Given the description of an element on the screen output the (x, y) to click on. 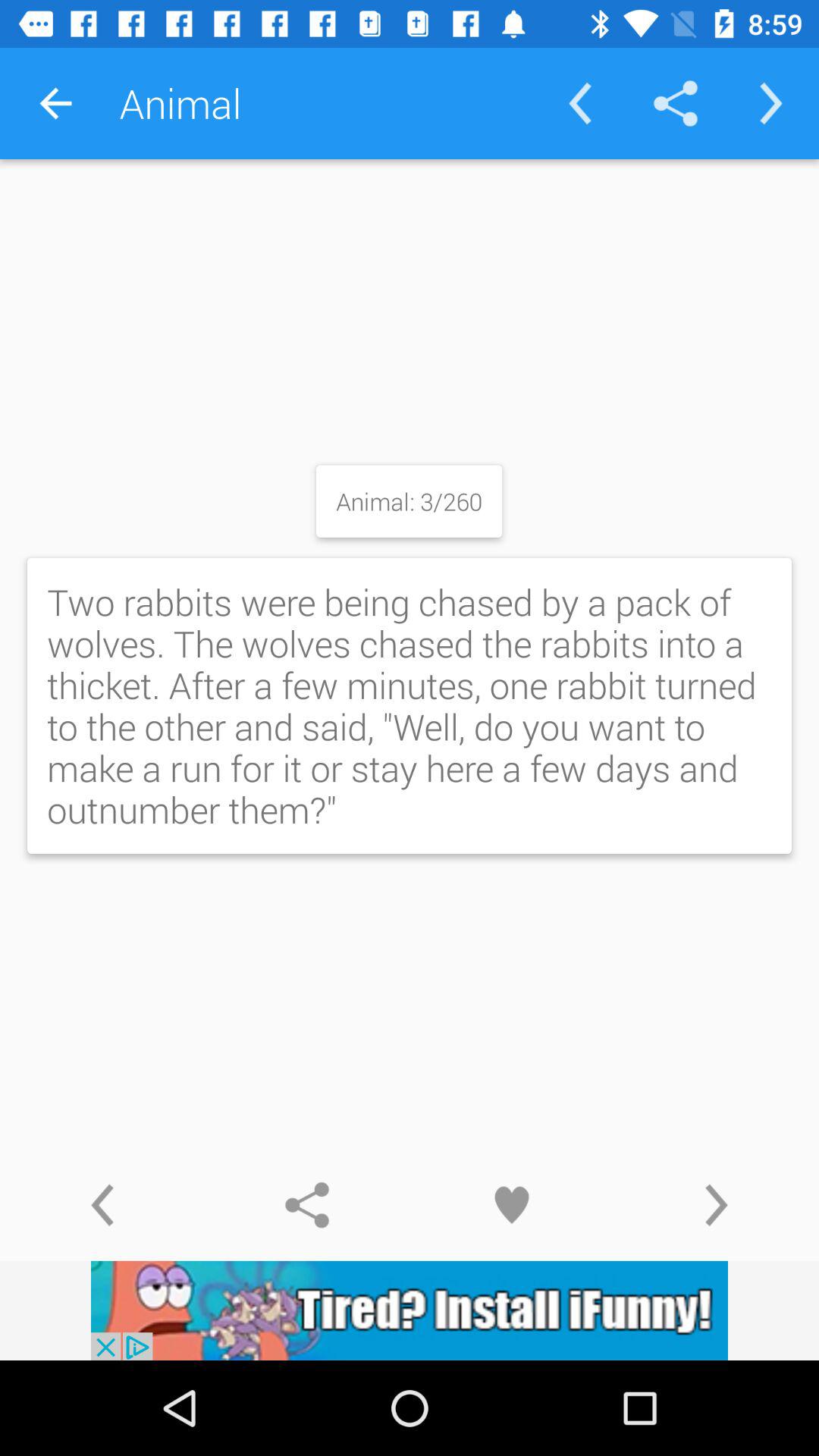
post to social media (306, 1205)
